Given the description of an element on the screen output the (x, y) to click on. 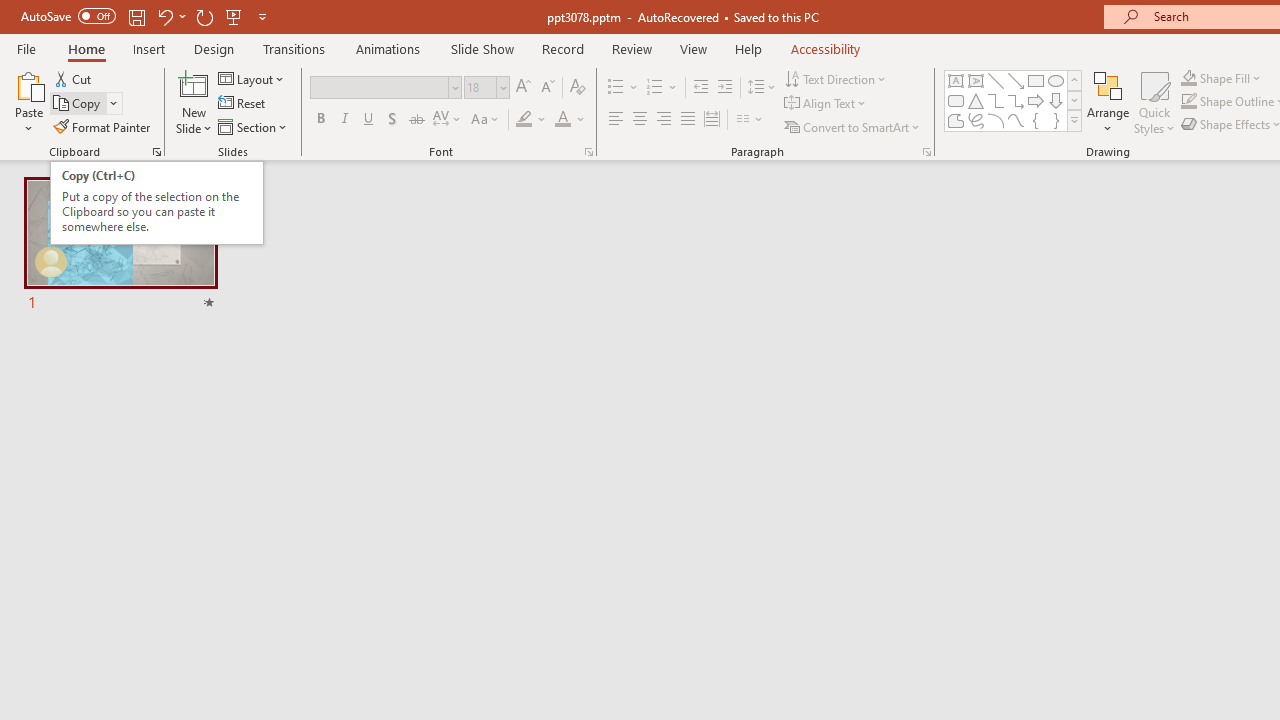
Quick Access Toolbar (145, 16)
Font (379, 87)
Shape Outline Green, Accent 1 (1188, 101)
Left Brace (1035, 120)
Align Right (663, 119)
Home (86, 48)
Line (995, 80)
Font Size (480, 87)
Shape Fill (1221, 78)
Curve (1016, 120)
AutoSave (68, 16)
Decrease Font Size (547, 87)
Connector: Elbow (995, 100)
Decrease Indent (700, 87)
Character Spacing (447, 119)
